Given the description of an element on the screen output the (x, y) to click on. 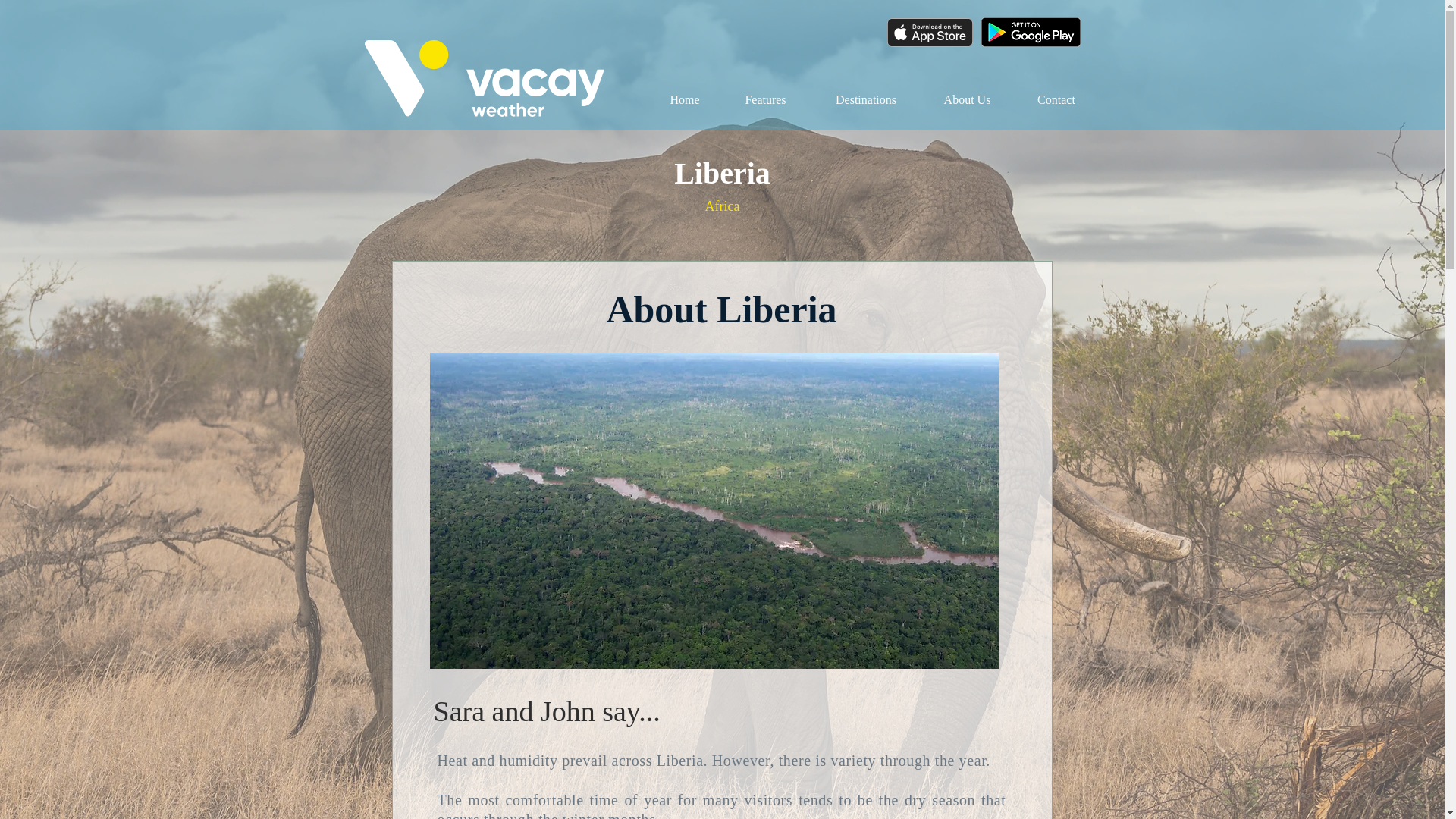
Contact (1056, 100)
Features (764, 100)
google-play-badge.png (1030, 32)
About Us (967, 100)
Home (684, 100)
